Given the description of an element on the screen output the (x, y) to click on. 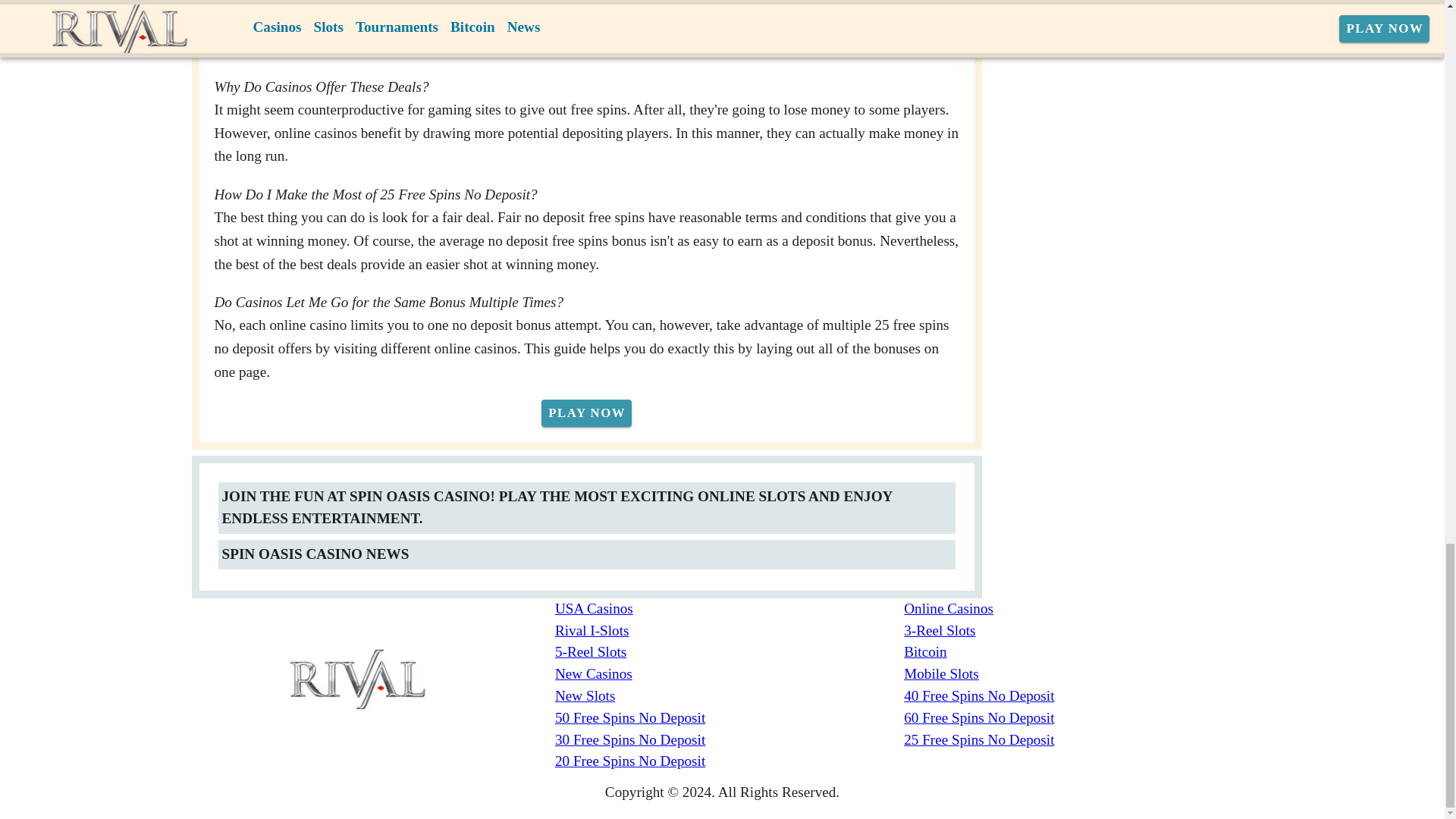
Rival I-Slots (729, 630)
Online Casinos (1078, 608)
3-Reel Slots (1078, 630)
25 Free Spins No Deposit (1078, 740)
New Casinos (729, 674)
20 Free Spins No Deposit (729, 762)
5-Reel Slots (729, 652)
40 Free Spins No Deposit (1078, 696)
New Slots (729, 696)
30 Free Spins No Deposit (729, 740)
USA Casinos (729, 608)
Mobile Slots (1078, 674)
50 Free Spins No Deposit (729, 718)
PLAY NOW (586, 412)
60 Free Spins No Deposit (1078, 718)
